Given the description of an element on the screen output the (x, y) to click on. 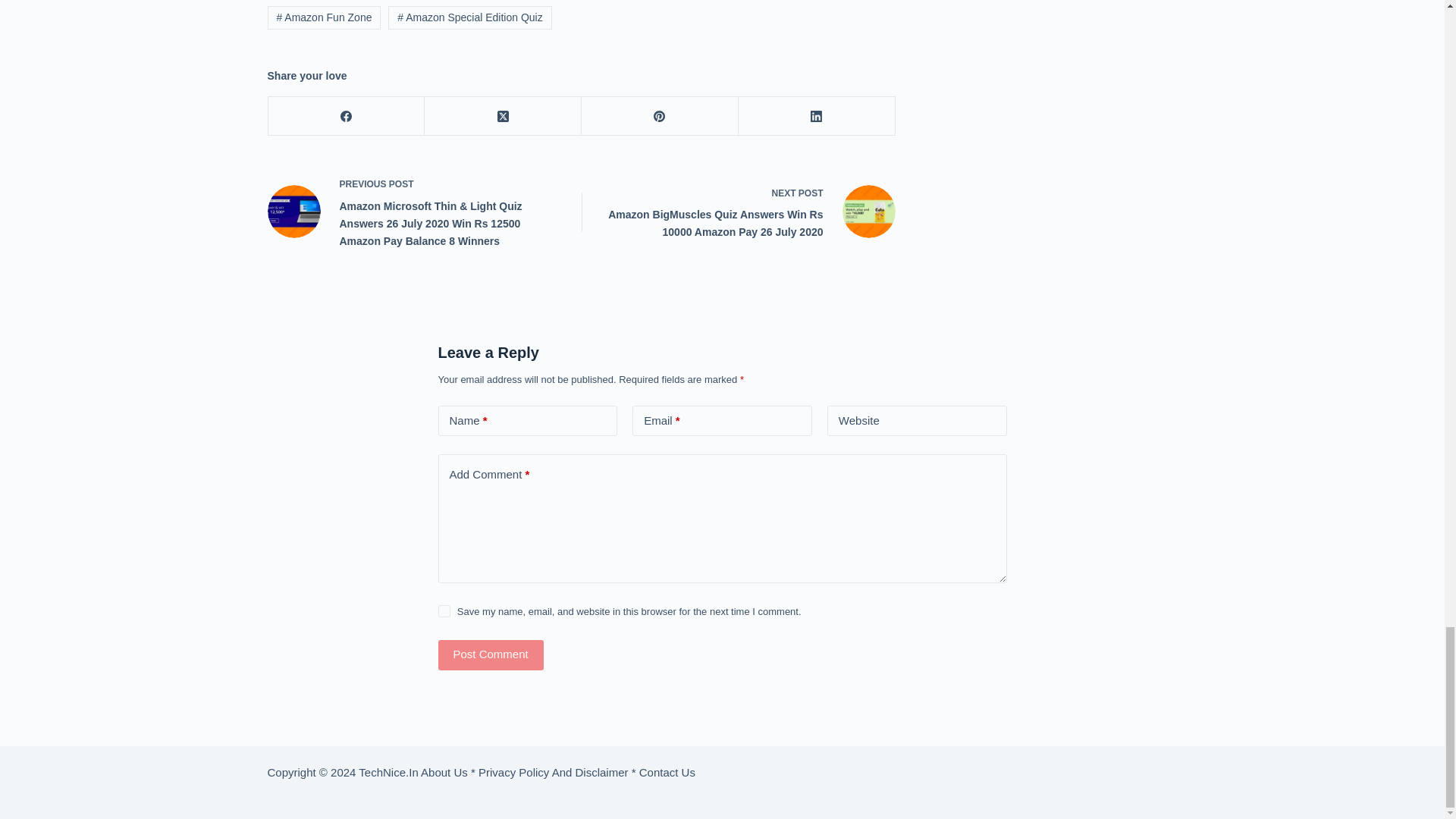
yes (443, 611)
